Given the description of an element on the screen output the (x, y) to click on. 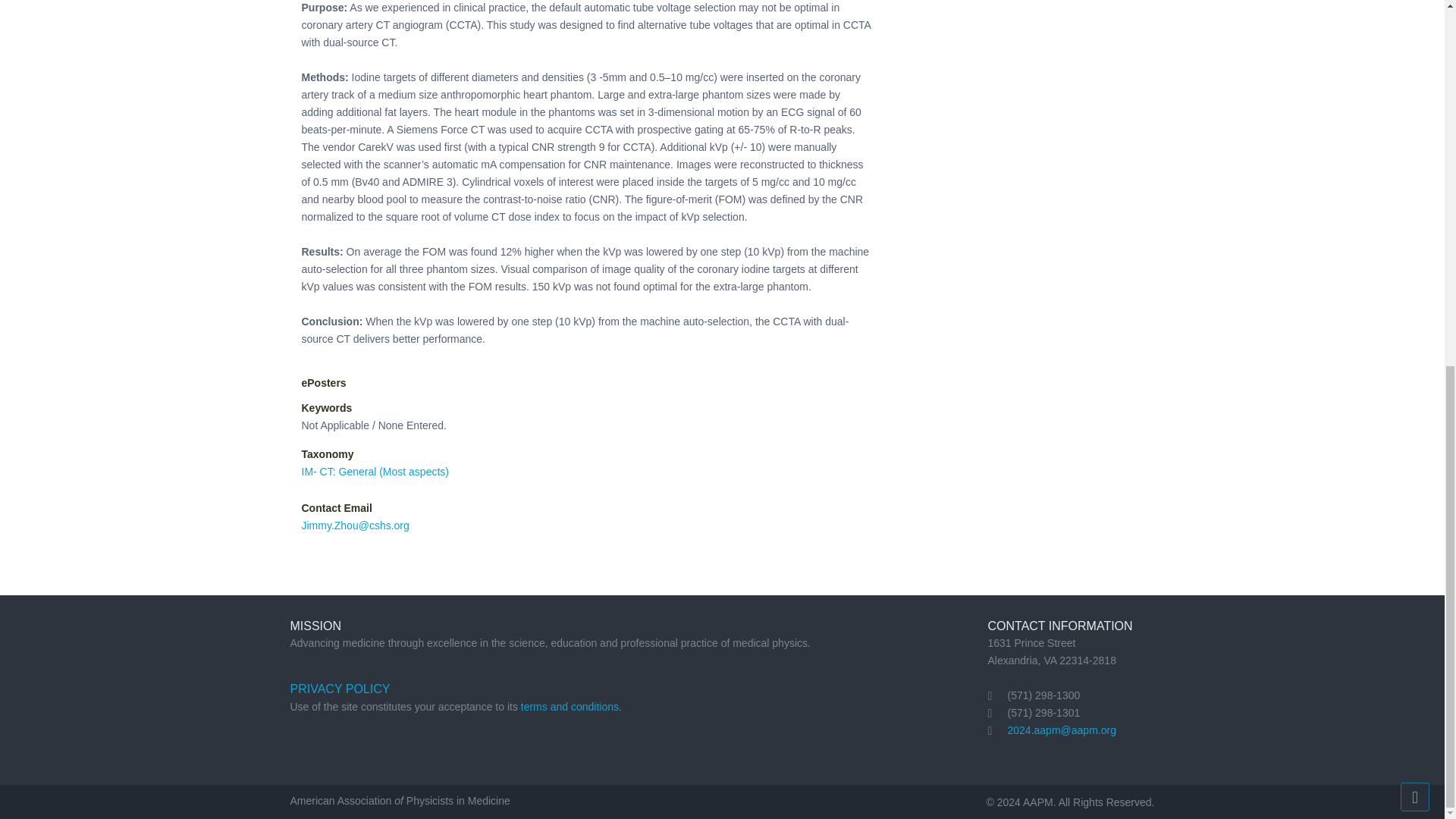
PRIVACY POLICY (339, 688)
terms and conditions (569, 706)
